Given the description of an element on the screen output the (x, y) to click on. 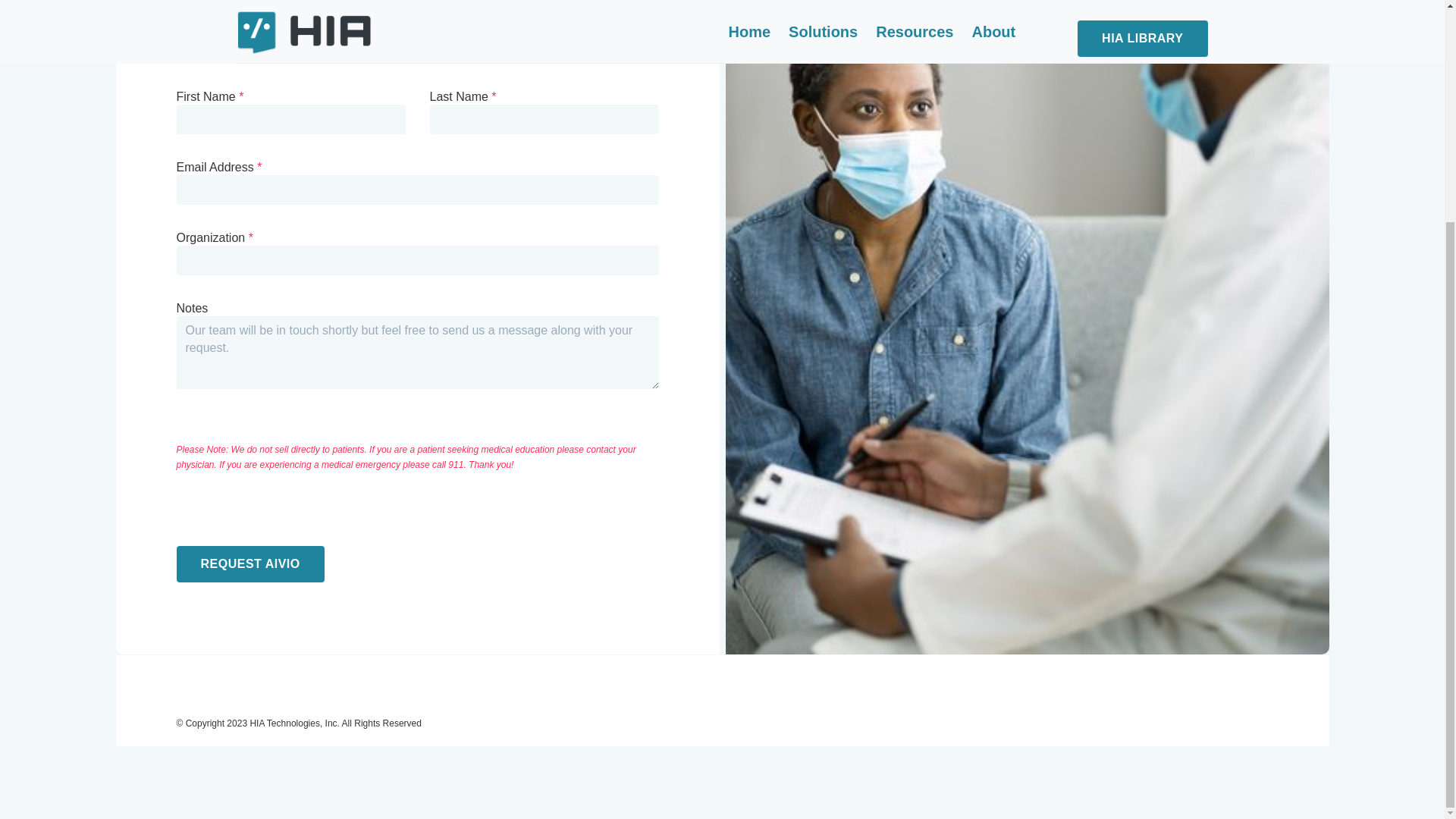
Request aivio (249, 564)
Request aivio (249, 564)
